Given the description of an element on the screen output the (x, y) to click on. 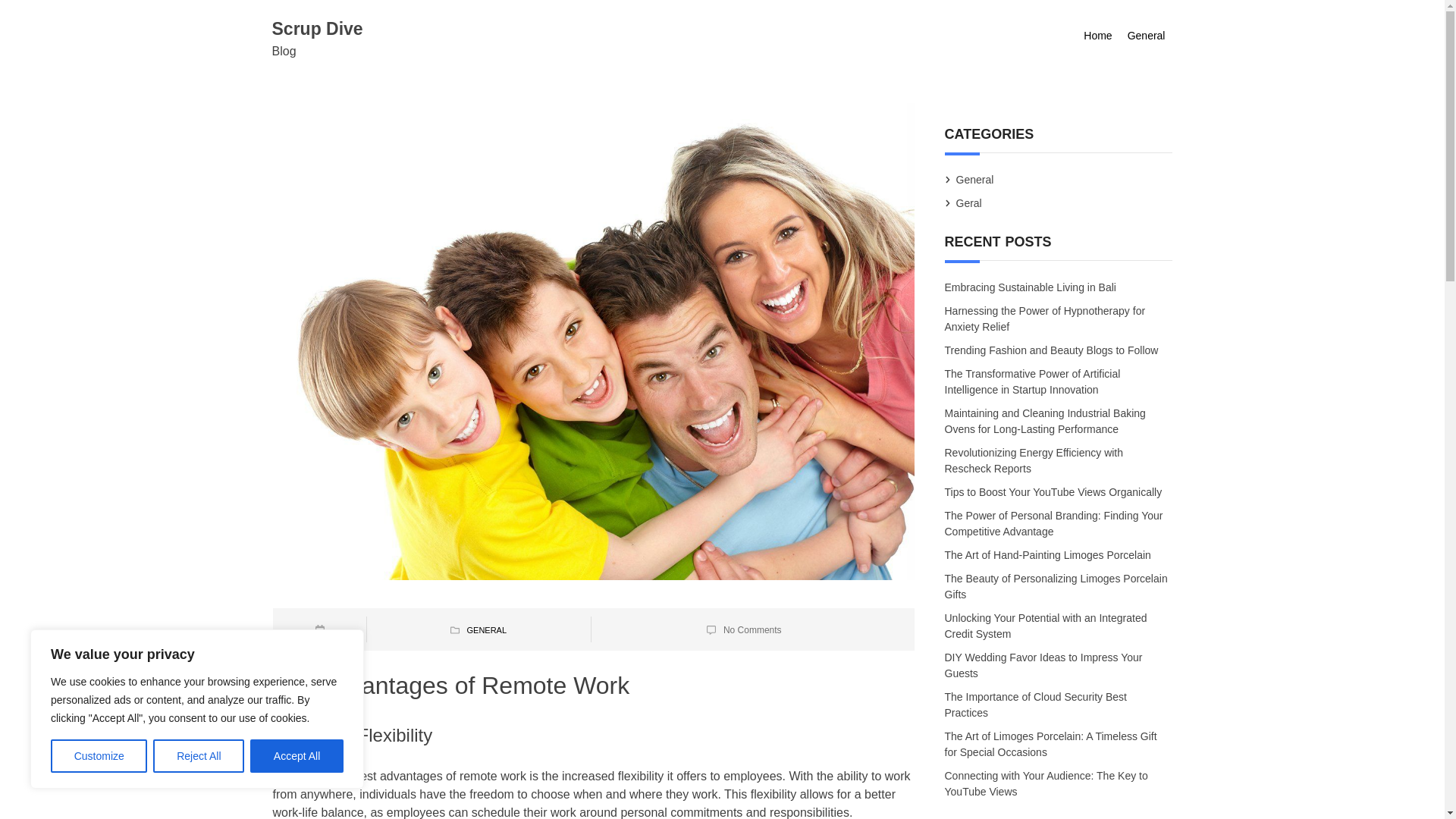
GENERAL (485, 629)
General (1146, 35)
Accept All (296, 756)
Trending Fashion and Beauty Blogs to Follow (1052, 350)
Geral (968, 203)
Revolutionizing Energy Efficiency with Rescheck Reports (1034, 460)
Home (1097, 35)
Customize (98, 756)
Harnessing the Power of Hypnotherapy for Anxiety Relief (1044, 319)
